Given the description of an element on the screen output the (x, y) to click on. 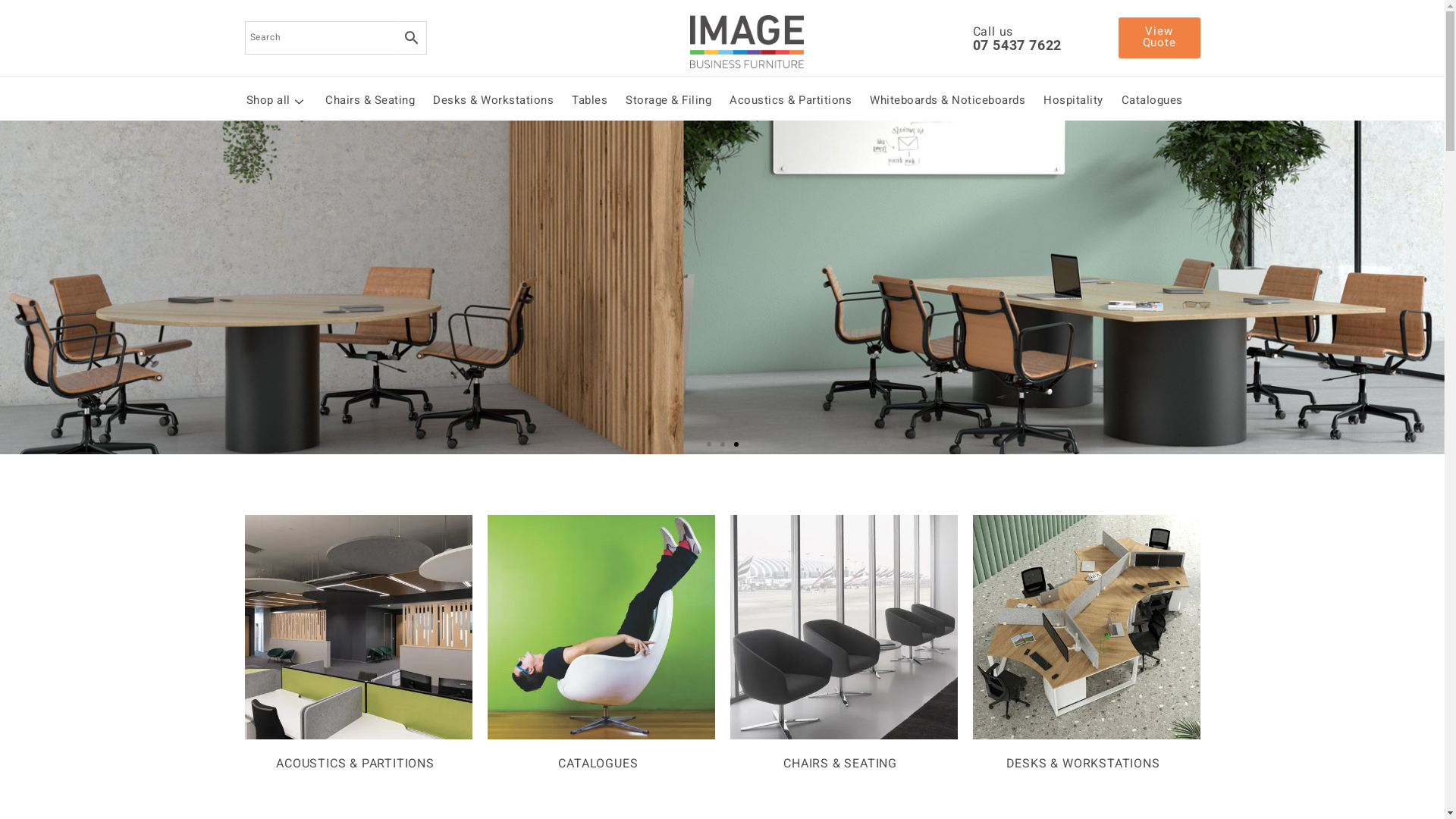
Whiteboards & Noticeboards Element type: text (947, 101)
Chairs & Seating Element type: text (369, 101)
View Quote Element type: text (1158, 37)
ACOUSTICS & PARTITIONS (29) Element type: text (357, 646)
Desks & Workstations Element type: text (492, 101)
Acoustics & Partitions Element type: text (790, 101)
CHAIRS & SEATING (380) Element type: text (843, 646)
Storage & Filing Element type: text (668, 101)
DESKS & WORKSTATIONS (188) Element type: text (1085, 646)
CATALOGUES (4) Element type: text (600, 646)
07 5437 7622 Element type: text (1016, 44)
Catalogues Element type: text (1151, 101)
Tables Element type: text (589, 101)
Hospitality Element type: text (1073, 101)
Shop all Element type: text (276, 101)
